Given the description of an element on the screen output the (x, y) to click on. 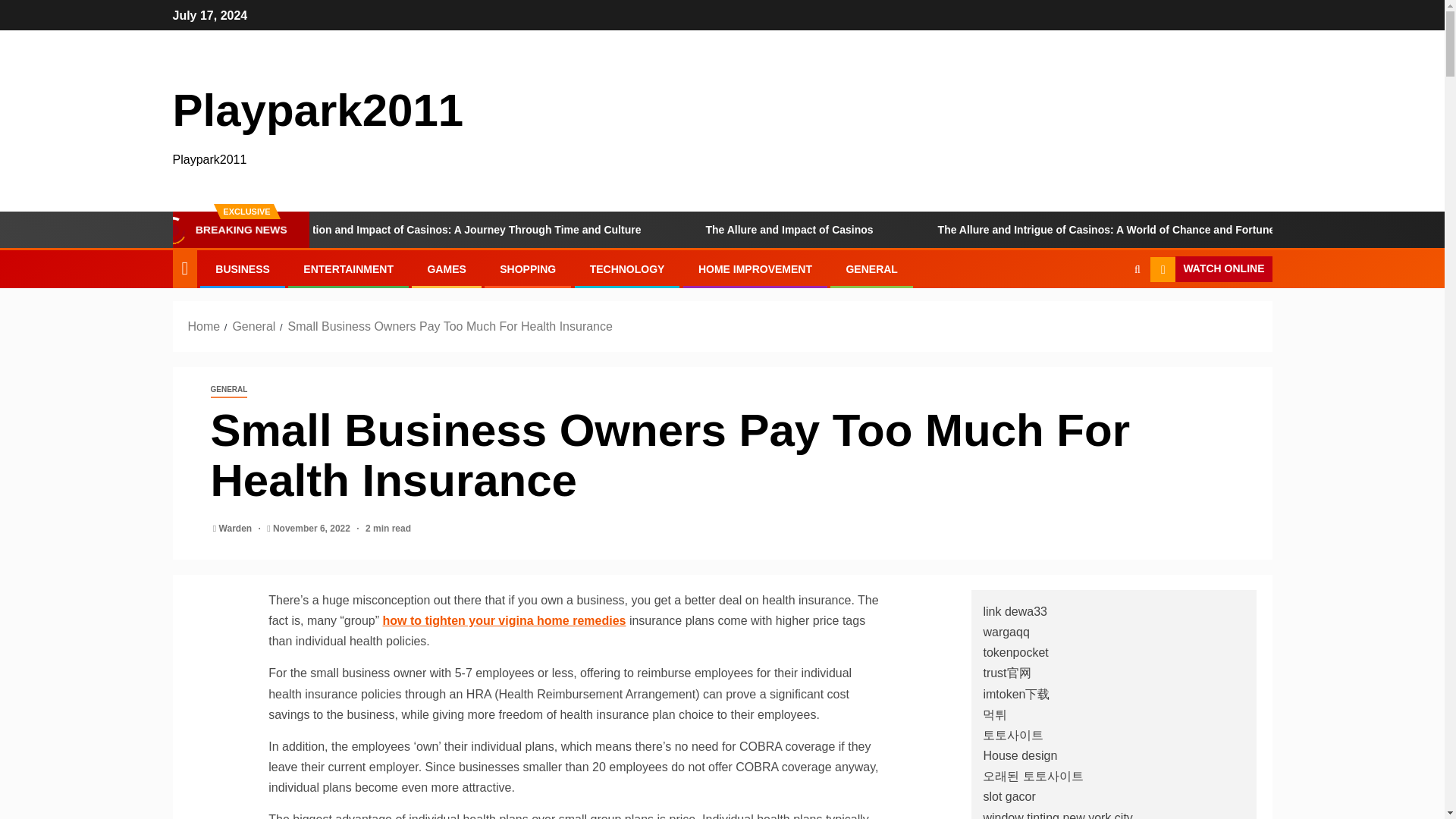
WATCH ONLINE (1210, 268)
Small Business Owners Pay Too Much For Health Insurance (450, 326)
The Allure and Impact of Casinos (871, 229)
GAMES (445, 268)
GENERAL (870, 268)
TECHNOLOGY (627, 268)
HOME IMPROVEMENT (755, 268)
ENTERTAINMENT (347, 268)
SHOPPING (527, 268)
Playpark2011 (318, 110)
General (253, 326)
BUSINESS (242, 268)
Home (204, 326)
